Given the description of an element on the screen output the (x, y) to click on. 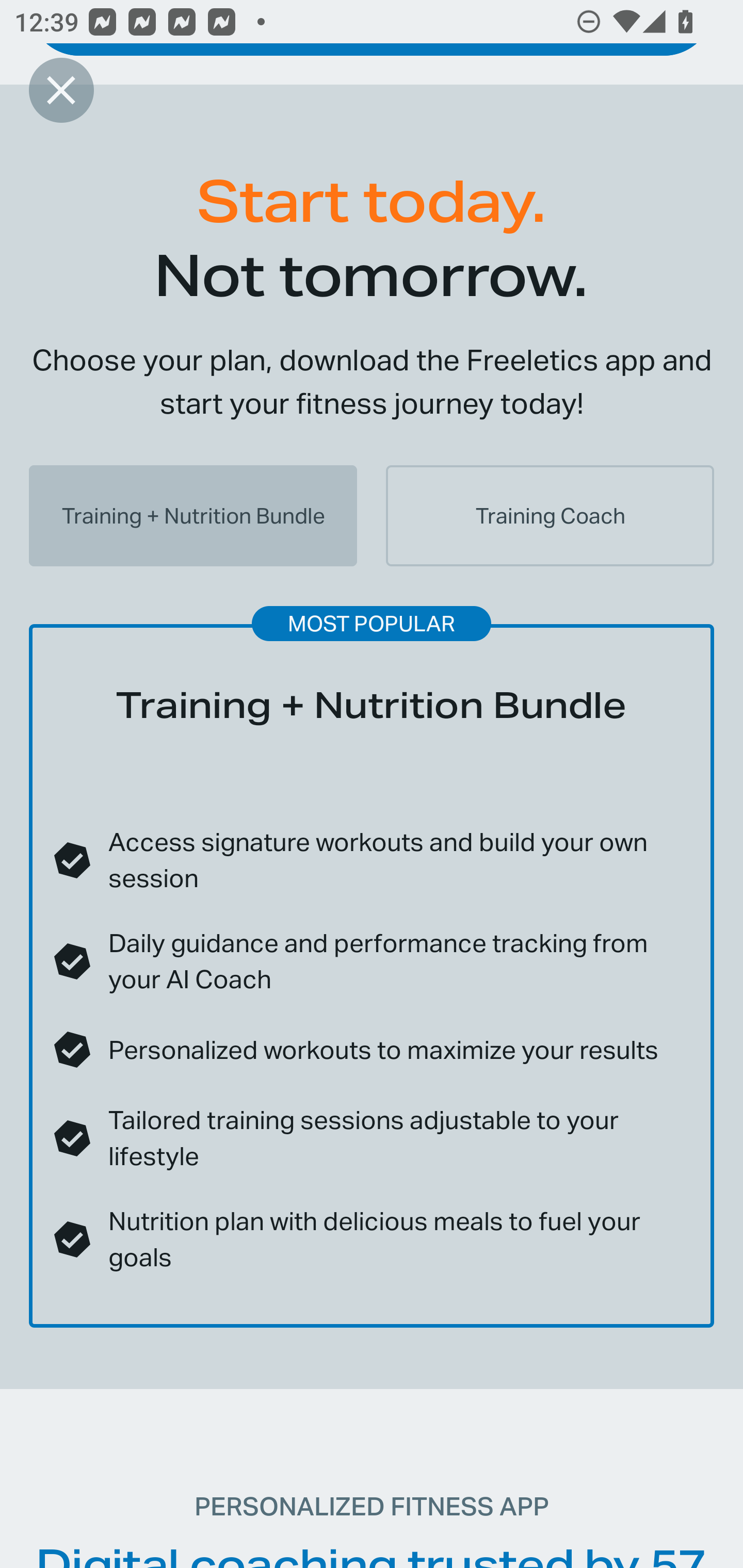
Close (60, 90)
Training + Nutrition Bundle (192, 515)
Training Coach (549, 515)
